Given the description of an element on the screen output the (x, y) to click on. 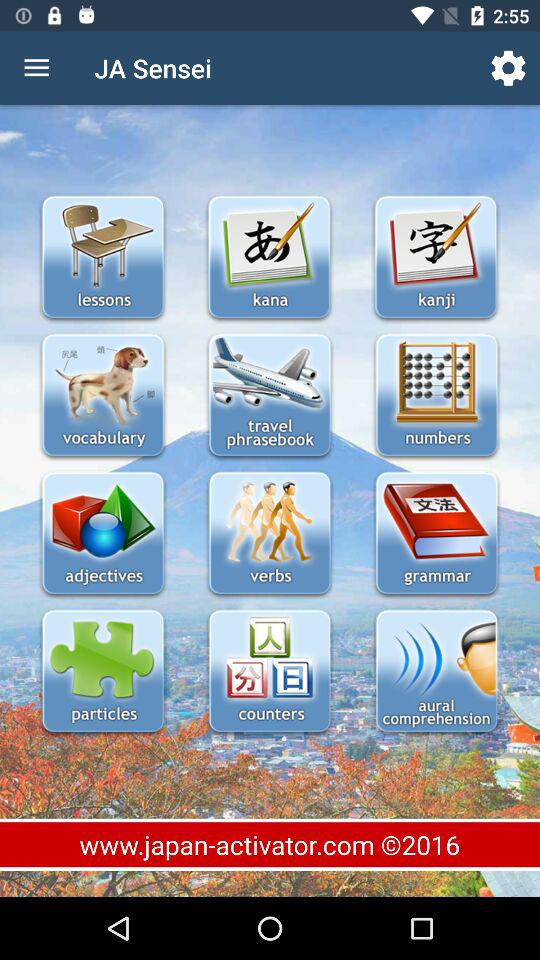
go to verbs (269, 534)
